Given the description of an element on the screen output the (x, y) to click on. 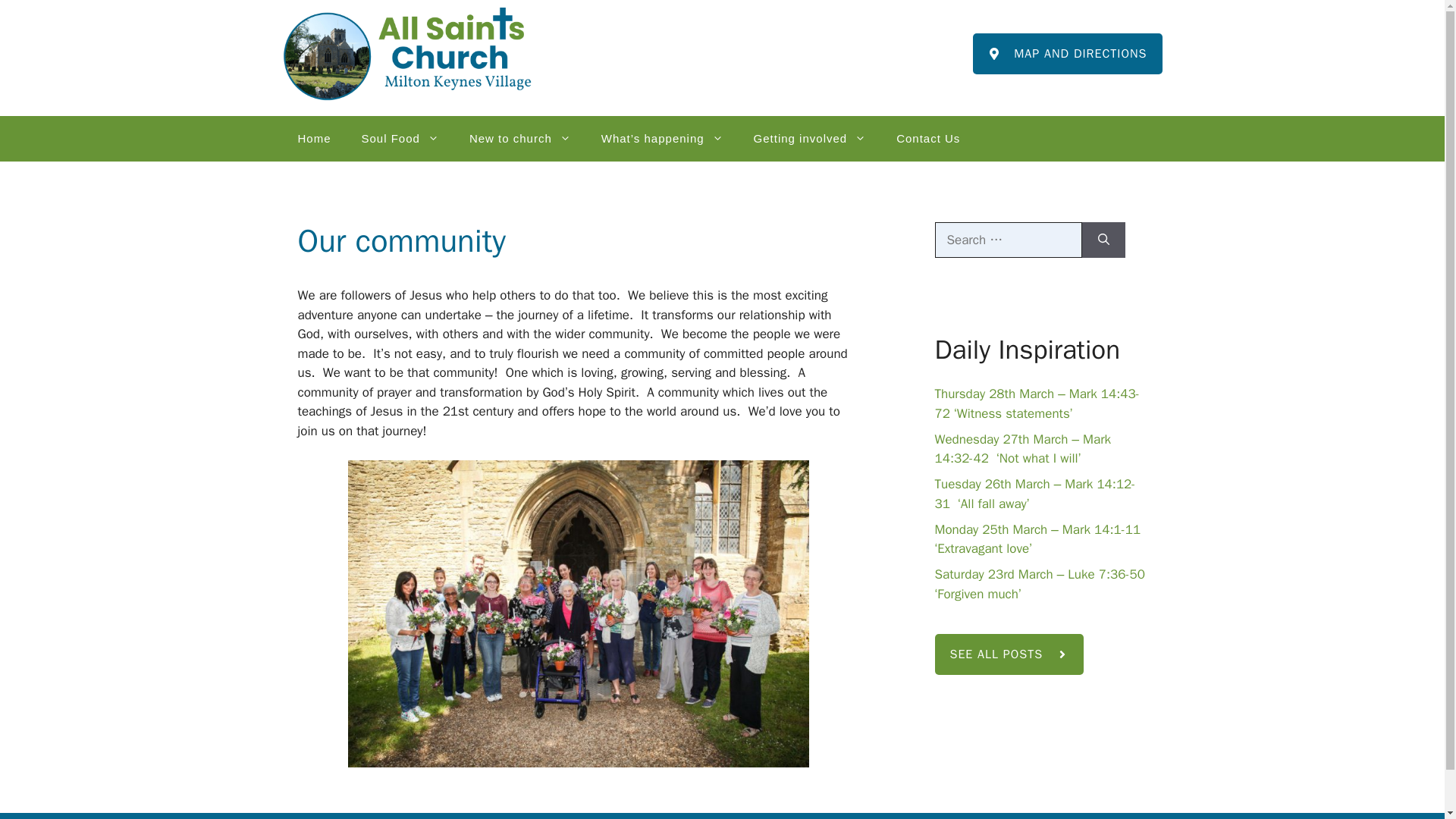
Home (314, 138)
Search for: (1007, 239)
MAP AND DIRECTIONS (1066, 53)
New to church (520, 138)
SEE ALL POSTS (1008, 653)
Contact Us (927, 138)
Getting involved (810, 138)
Soul Food (400, 138)
